Given the description of an element on the screen output the (x, y) to click on. 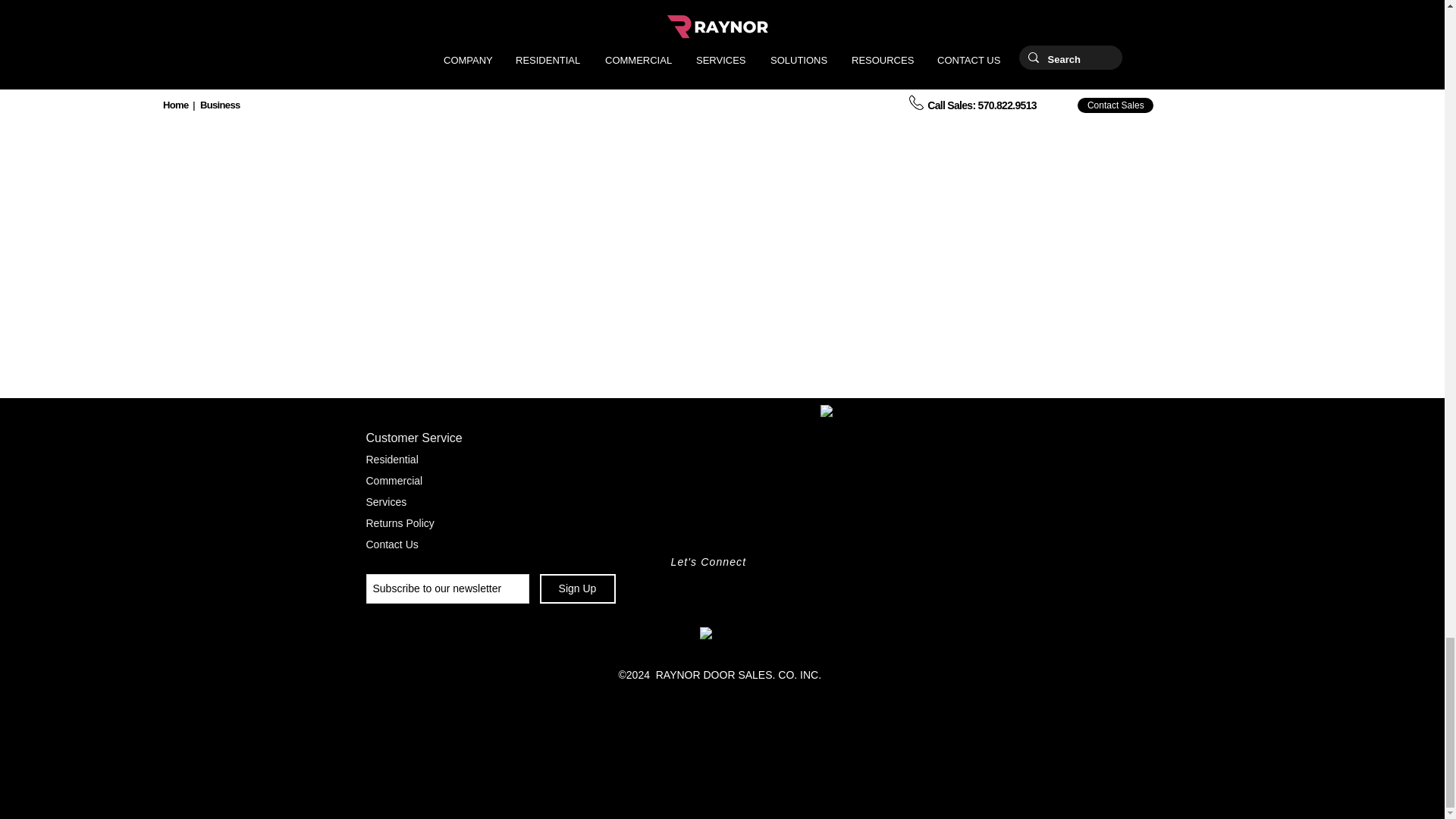
Returns Policy (399, 522)
Services (385, 501)
Residential (391, 459)
Commercial (393, 480)
Sign Up (577, 588)
